Given the description of an element on the screen output the (x, y) to click on. 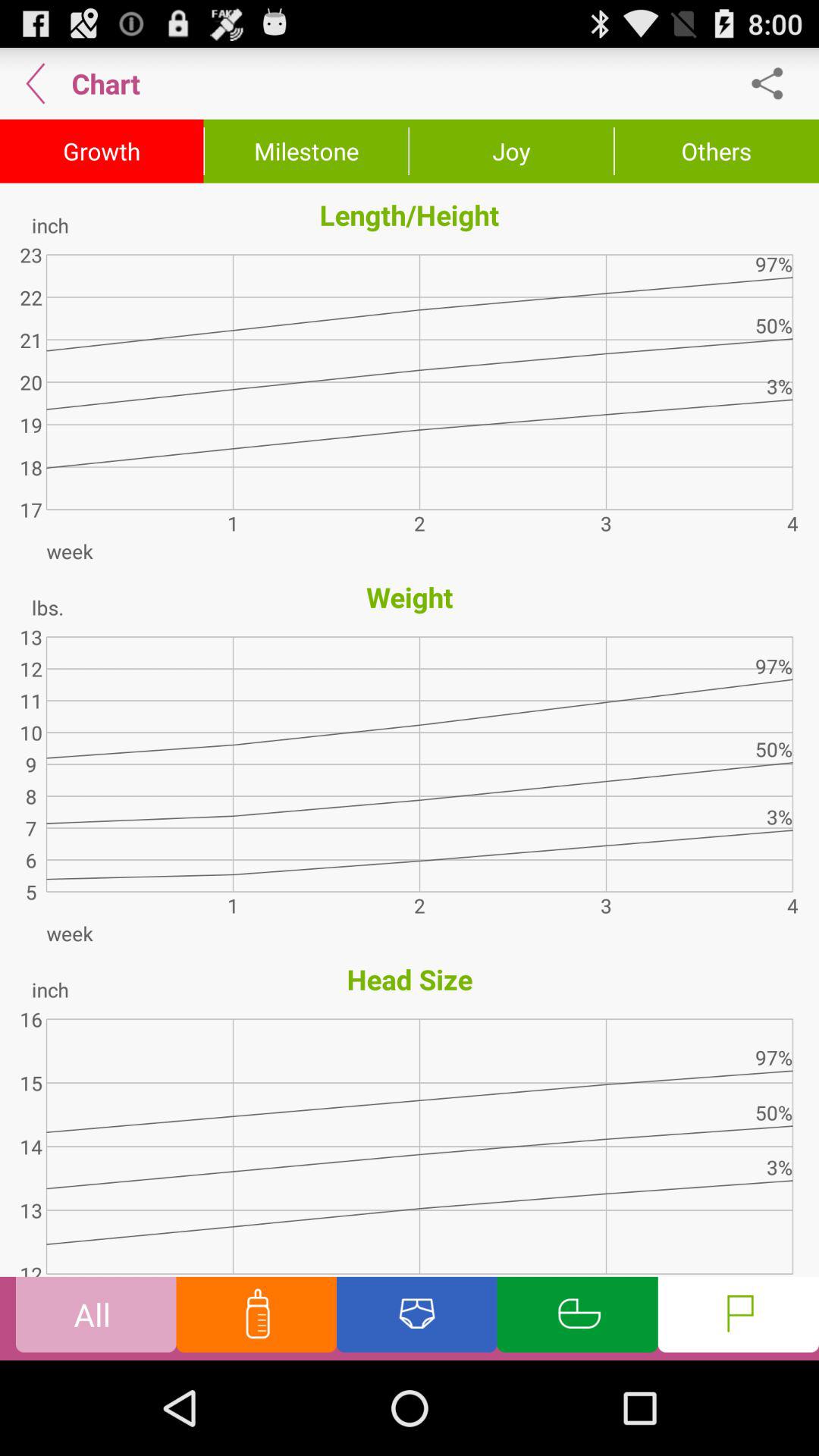
see diapers (416, 1318)
